Given the description of an element on the screen output the (x, y) to click on. 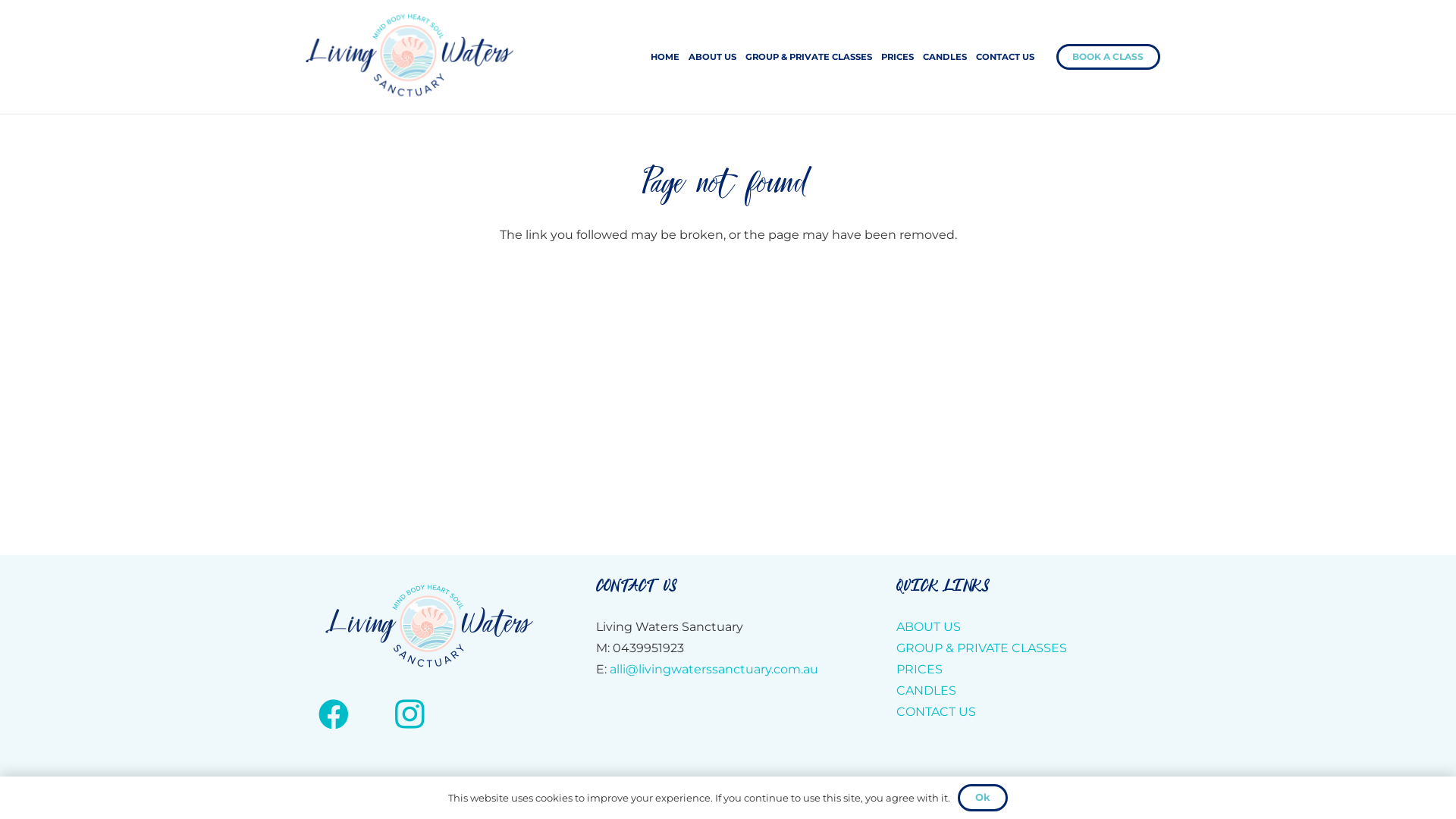
Facebook Element type: hover (333, 714)
BOOK A CLASS Element type: text (1108, 56)
HOME Element type: text (665, 56)
CONTACT US Element type: text (935, 711)
alli@livingwaterssanctuary.com.au Element type: text (713, 669)
Privacy Policy Element type: text (721, 800)
CANDLES Element type: text (926, 690)
PRICES Element type: text (897, 56)
ABOUT US Element type: text (712, 56)
GROUP & PRIVATE CLASSES Element type: text (981, 647)
CANDLES Element type: text (944, 56)
PRICES Element type: text (919, 669)
CONTACT US Element type: text (1004, 56)
GROUP & PRIVATE CLASSES Element type: text (808, 56)
Disclaimer Element type: text (812, 800)
smartfish Element type: text (931, 800)
Ok Element type: text (982, 797)
Instagram Element type: hover (409, 714)
ABOUT US Element type: text (928, 626)
